Given the description of an element on the screen output the (x, y) to click on. 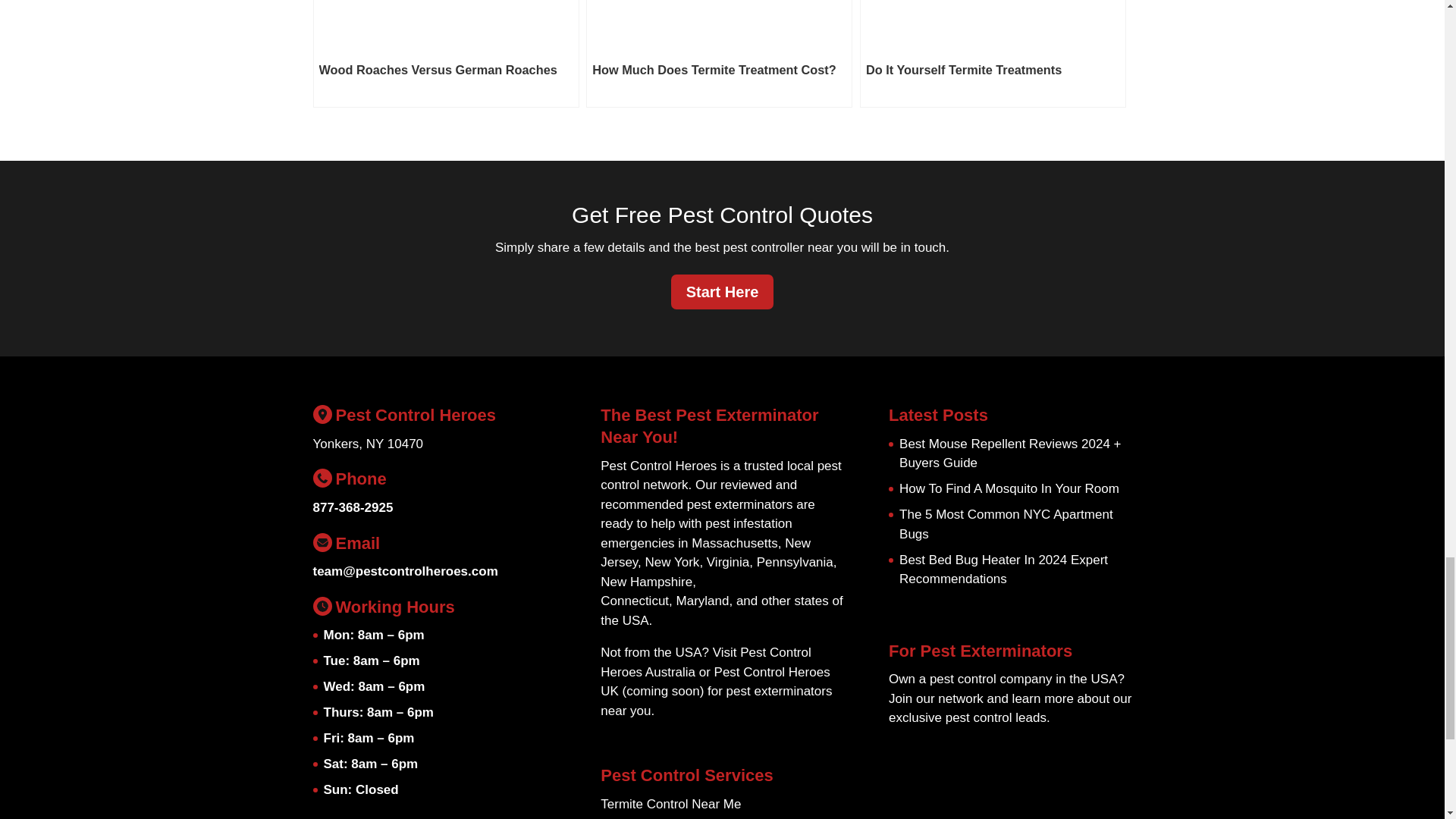
How Much Does Termite Treatment Cost? (718, 53)
Do It Yourself Termite Treatments (992, 53)
Wood Roaches Versus German Roaches (445, 53)
